Given the description of an element on the screen output the (x, y) to click on. 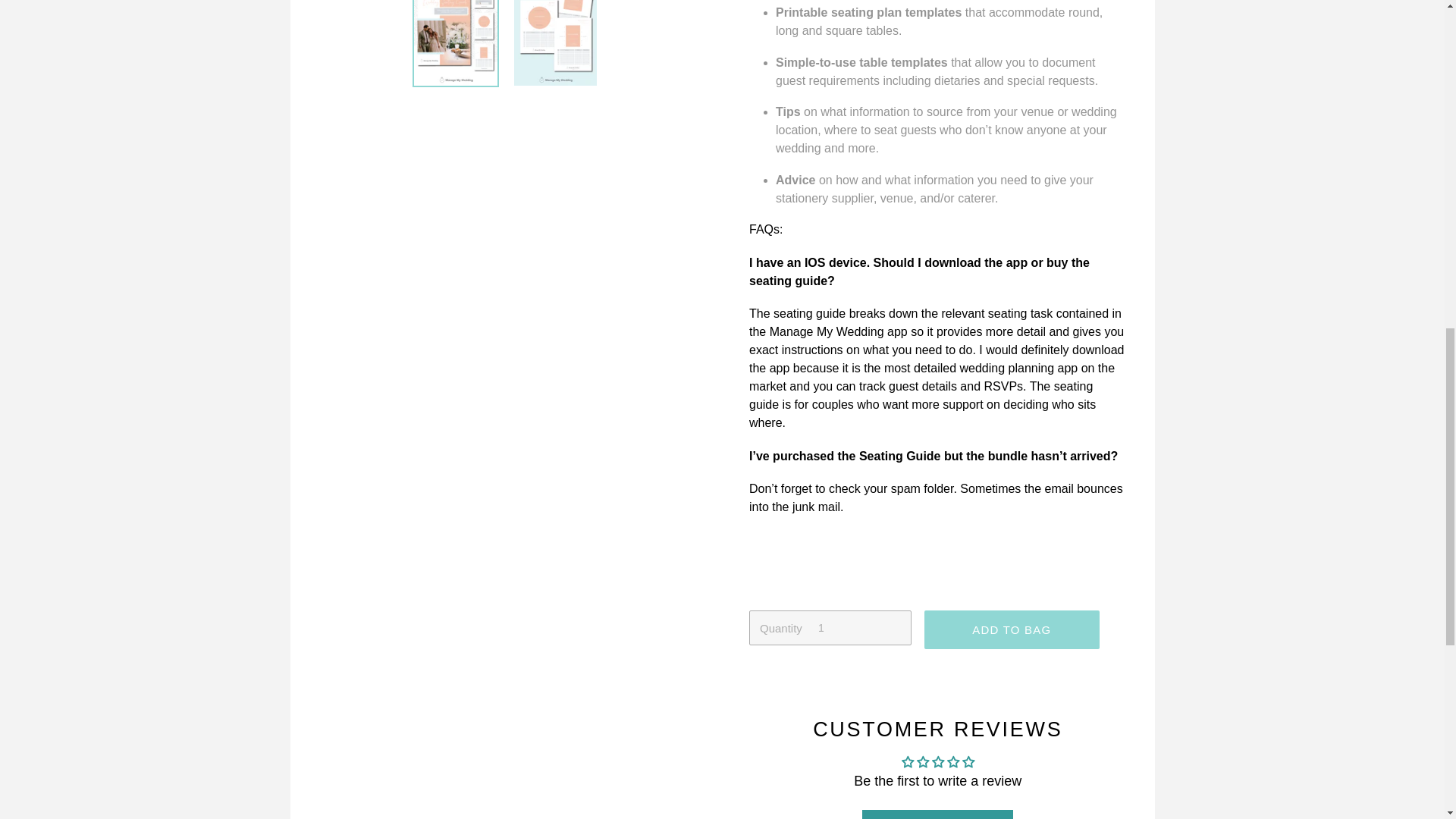
Write a review (937, 814)
1 (830, 627)
ADD TO BAG (1011, 628)
